Given the description of an element on the screen output the (x, y) to click on. 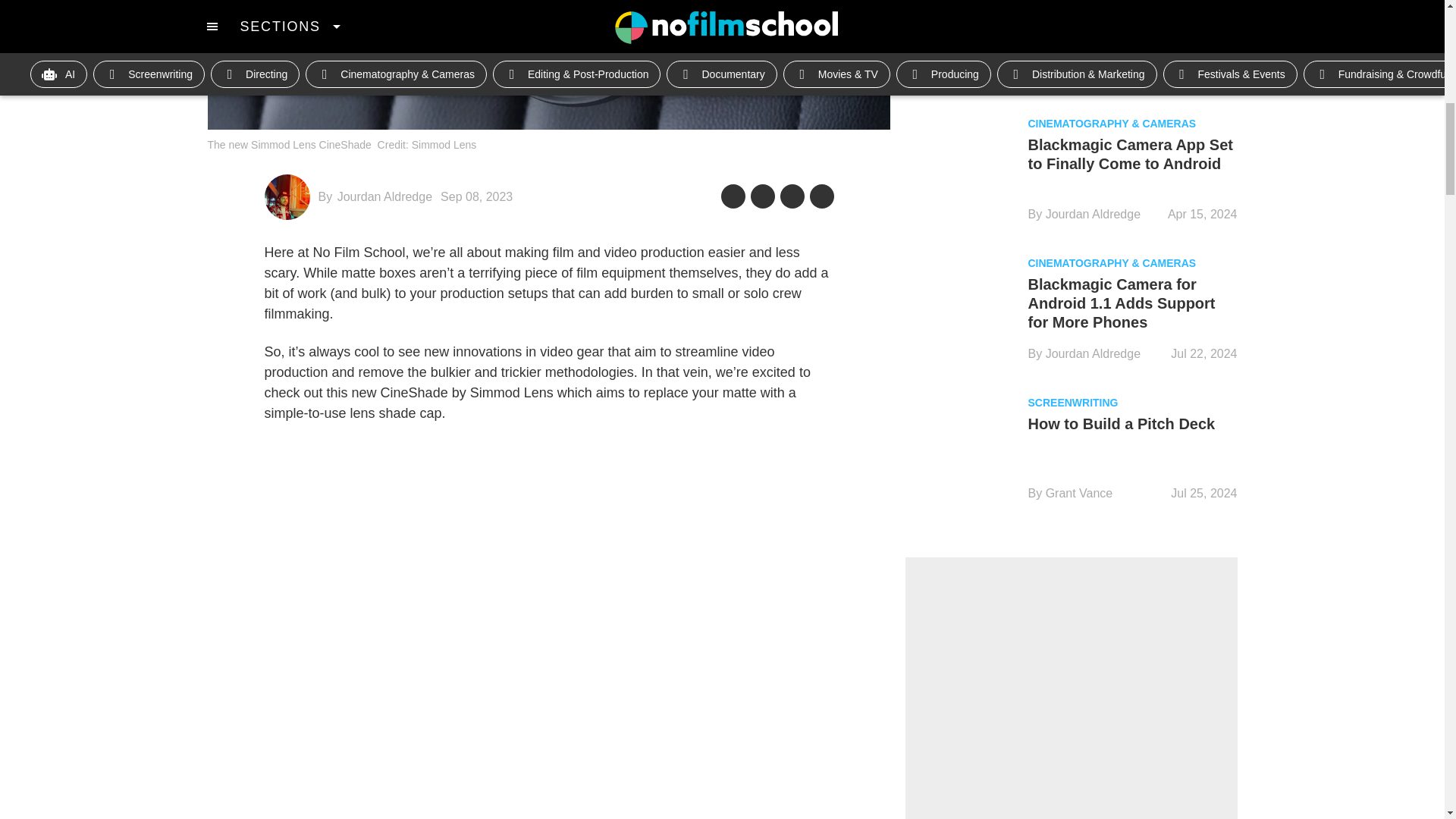
Jourdan Aldredge (384, 196)
